Given the description of an element on the screen output the (x, y) to click on. 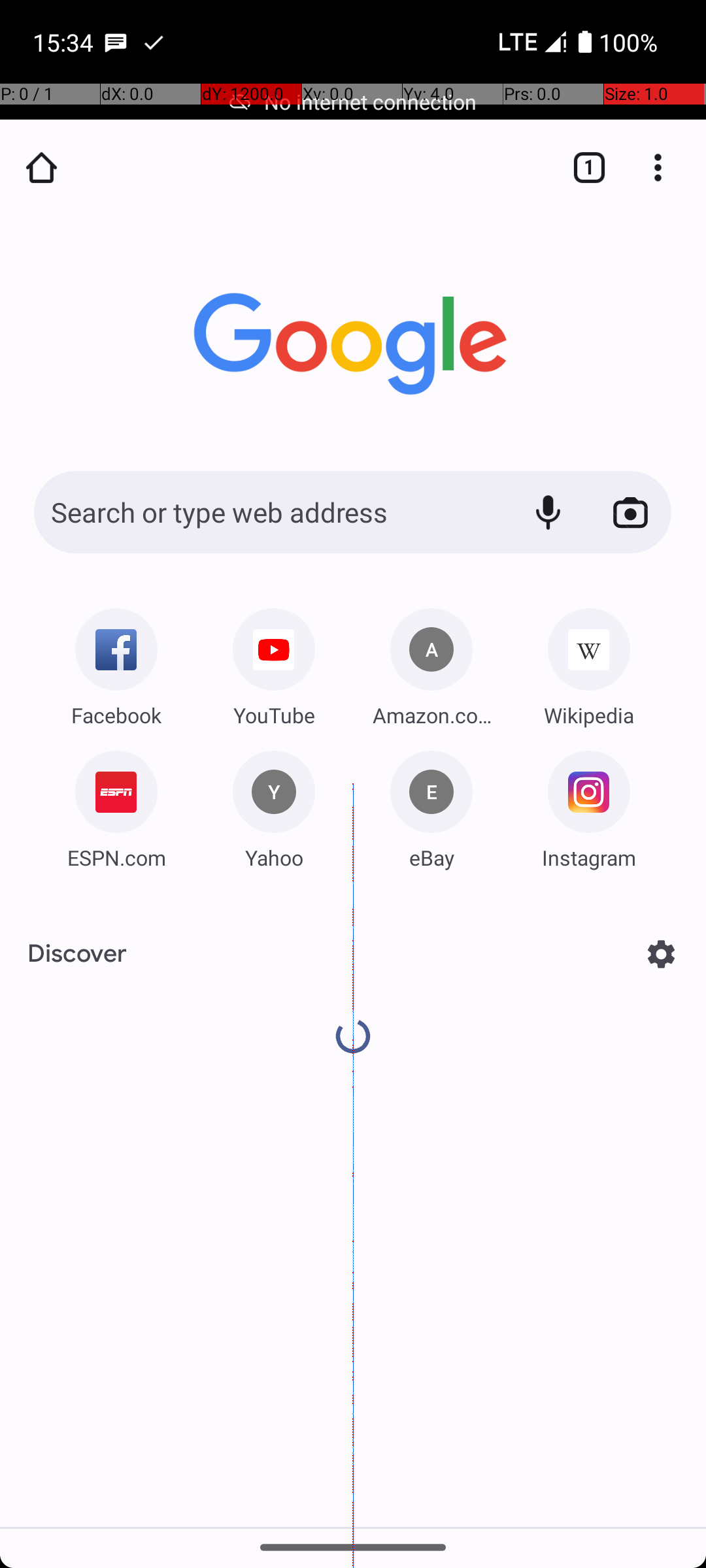
Search or type web address Element type: android.widget.EditText (267, 512)
Search with your camera using Google Lens Element type: android.widget.ImageView (629, 512)
Navigate: Facebook: m.facebook.com Element type: android.widget.FrameLayout (115, 662)
Navigate: YouTube: m.youtube.com Element type: android.widget.FrameLayout (273, 662)
Navigate: Amazon.com: www.amazon.com Element type: android.widget.FrameLayout (431, 662)
Navigate: Wikipedia: en.m.wikipedia.org Element type: android.widget.FrameLayout (588, 662)
Navigate: ESPN.com: www.espn.com Element type: android.widget.FrameLayout (115, 804)
Navigate: Yahoo: www.yahoo.com Element type: android.widget.FrameLayout (273, 804)
Navigate: eBay: m.ebay.com Element type: android.widget.FrameLayout (431, 804)
Navigate: Instagram: www.instagram.com Element type: android.widget.FrameLayout (588, 804)
Options for Discover Element type: android.widget.ImageButton (660, 953)
Amazon.com Element type: android.widget.TextView (430, 715)
ESPN.com Element type: android.widget.TextView (115, 857)
Yahoo Element type: android.widget.TextView (273, 857)
eBay Element type: android.widget.TextView (430, 857)
Instagram Element type: android.widget.TextView (588, 857)
SMS Messenger notification: Daniel Ali Element type: android.widget.ImageView (115, 41)
Contacts notification: Finished exporting contacts.vcf. Element type: android.widget.ImageView (153, 41)
